Given the description of an element on the screen output the (x, y) to click on. 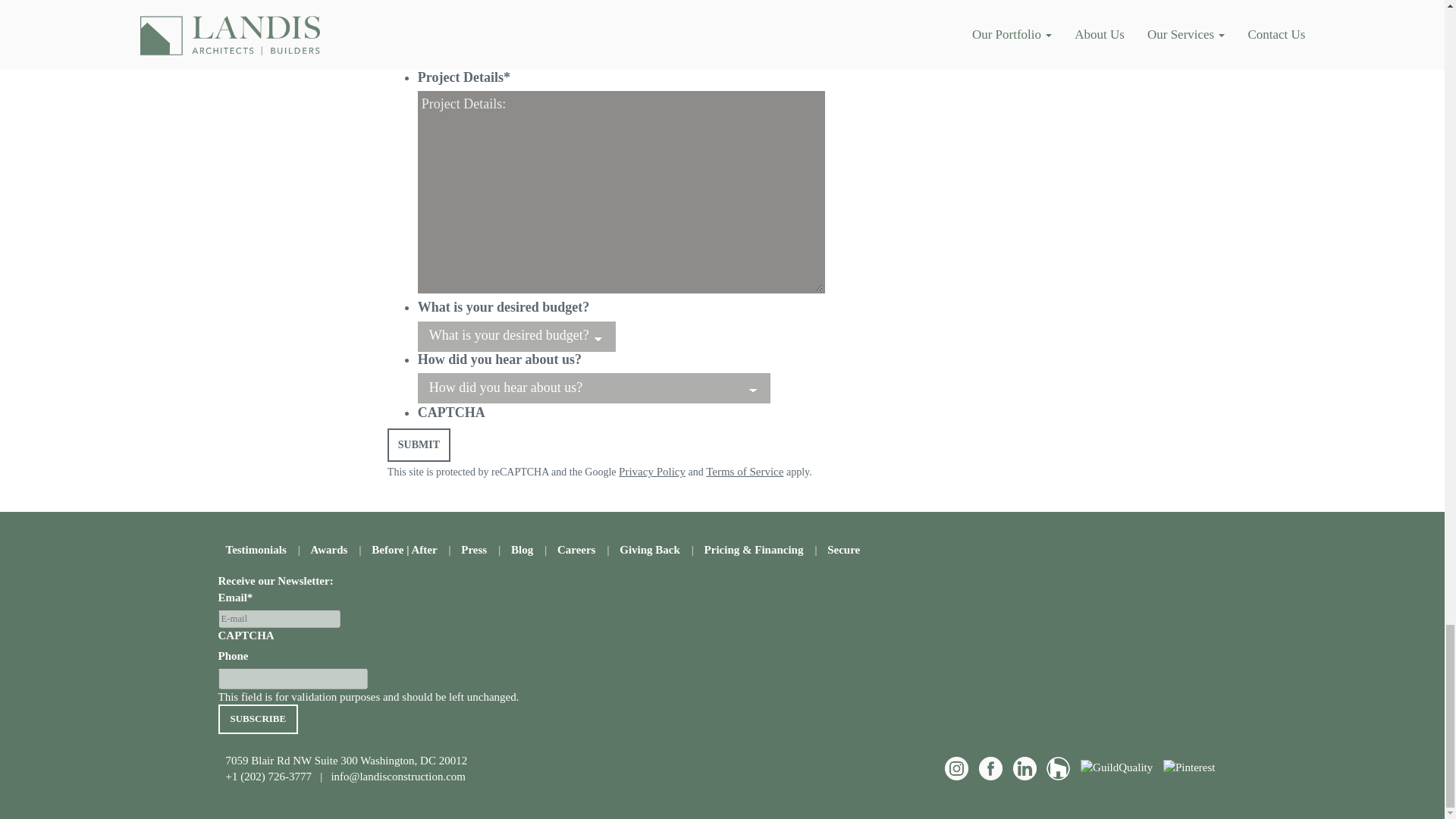
Subscribe (258, 718)
Testimonials (255, 549)
Press (473, 549)
Submit (418, 444)
Awards (329, 549)
Privacy Policy (651, 471)
Submit (418, 444)
Blog (521, 549)
Subscribe (258, 718)
Giving Back (649, 549)
Secure (843, 549)
Careers (576, 549)
Terms of Service (744, 471)
